Given the description of an element on the screen output the (x, y) to click on. 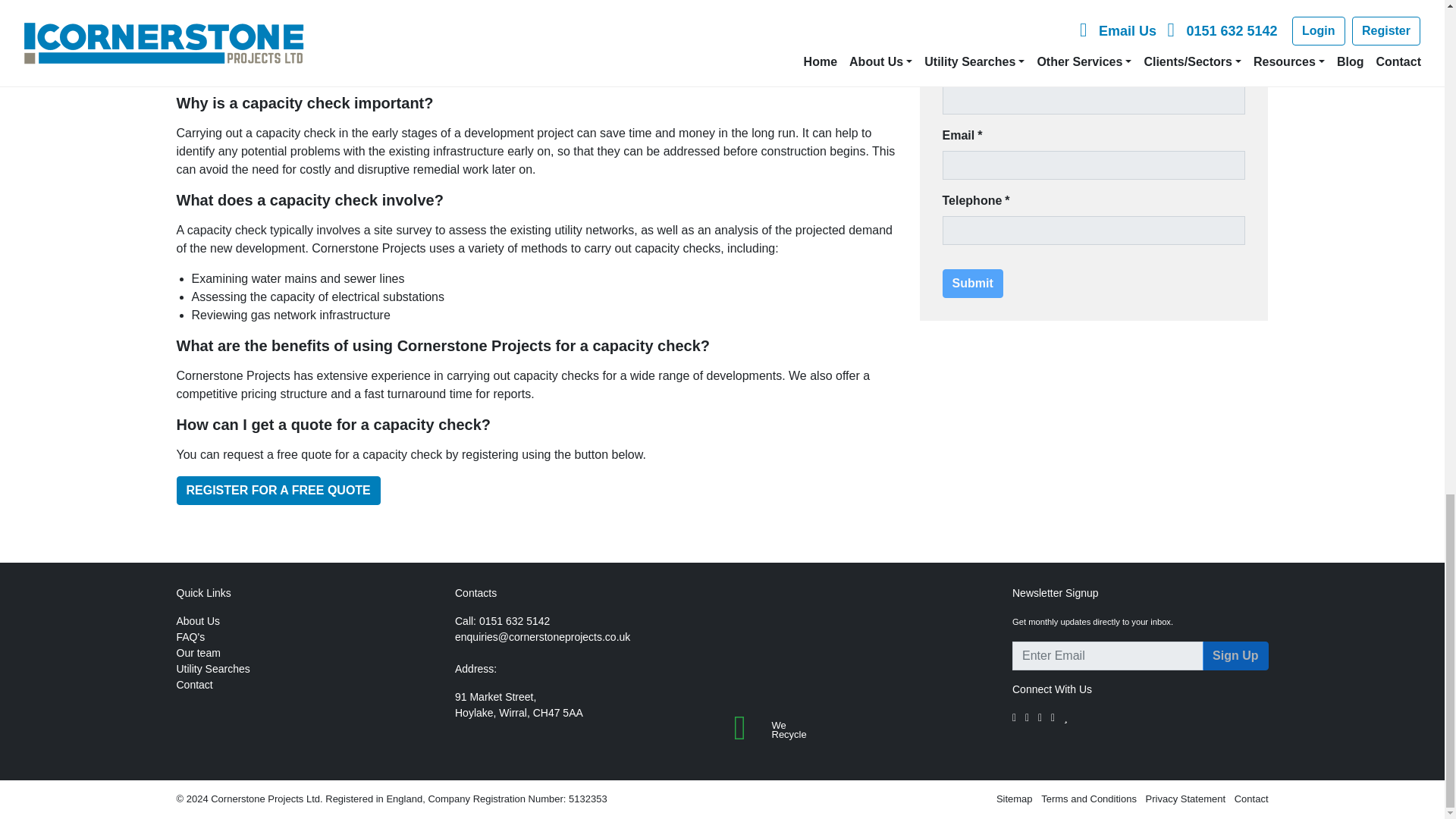
Sitemap (1013, 798)
0151 632 5142 (514, 621)
FAQ's (190, 636)
About Us (197, 621)
Our team (197, 653)
Contact (1251, 798)
Submit (972, 283)
Contact (194, 684)
Privacy (1185, 798)
Terms and Conditions (1089, 798)
